Given the description of an element on the screen output the (x, y) to click on. 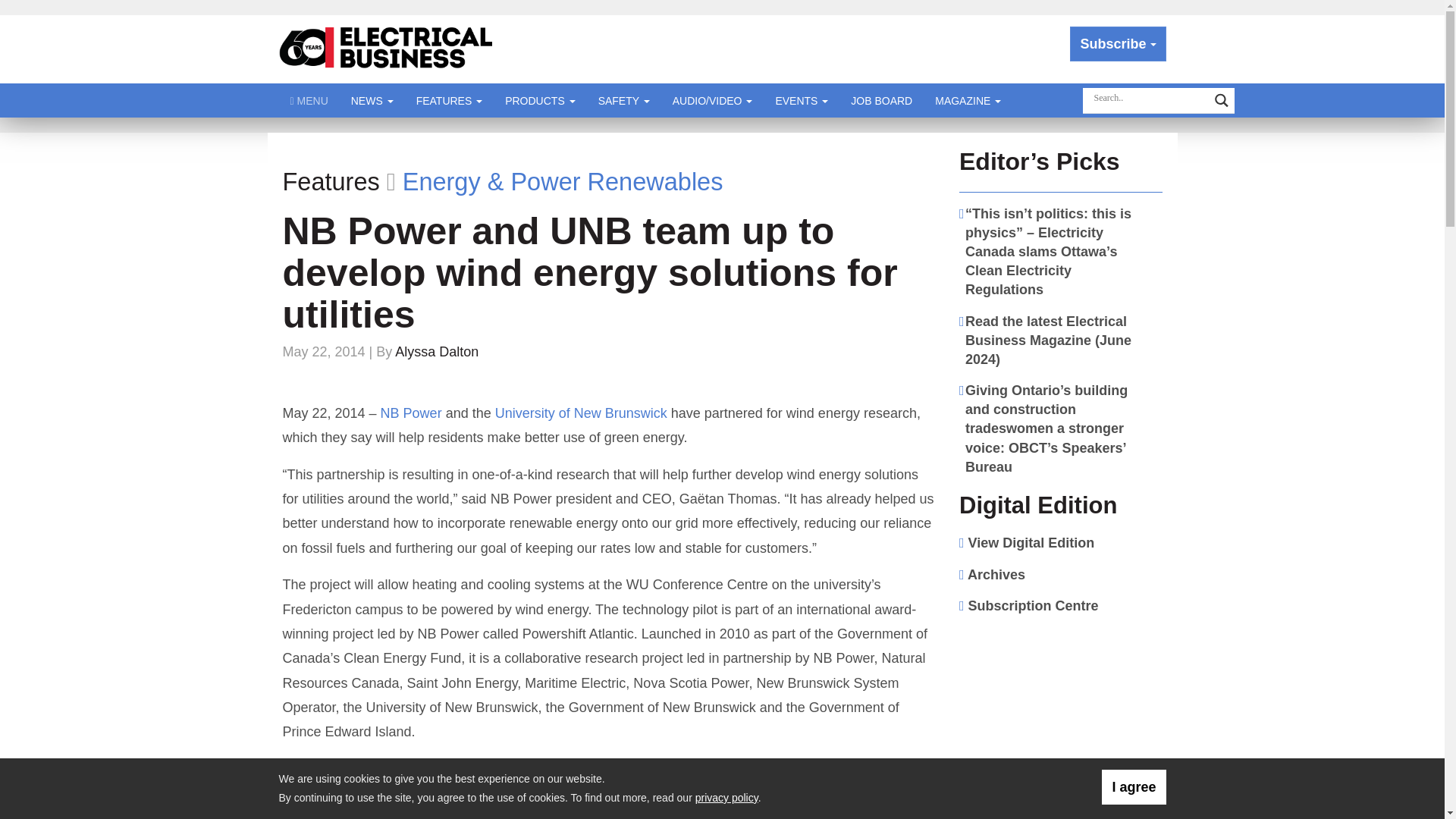
NEWS (371, 100)
Subscribe (1118, 43)
Electrical Business (387, 48)
FEATURES (449, 100)
SAFETY (623, 100)
MENU (309, 100)
Click to show site navigation (309, 100)
PRODUCTS (539, 100)
